Given the description of an element on the screen output the (x, y) to click on. 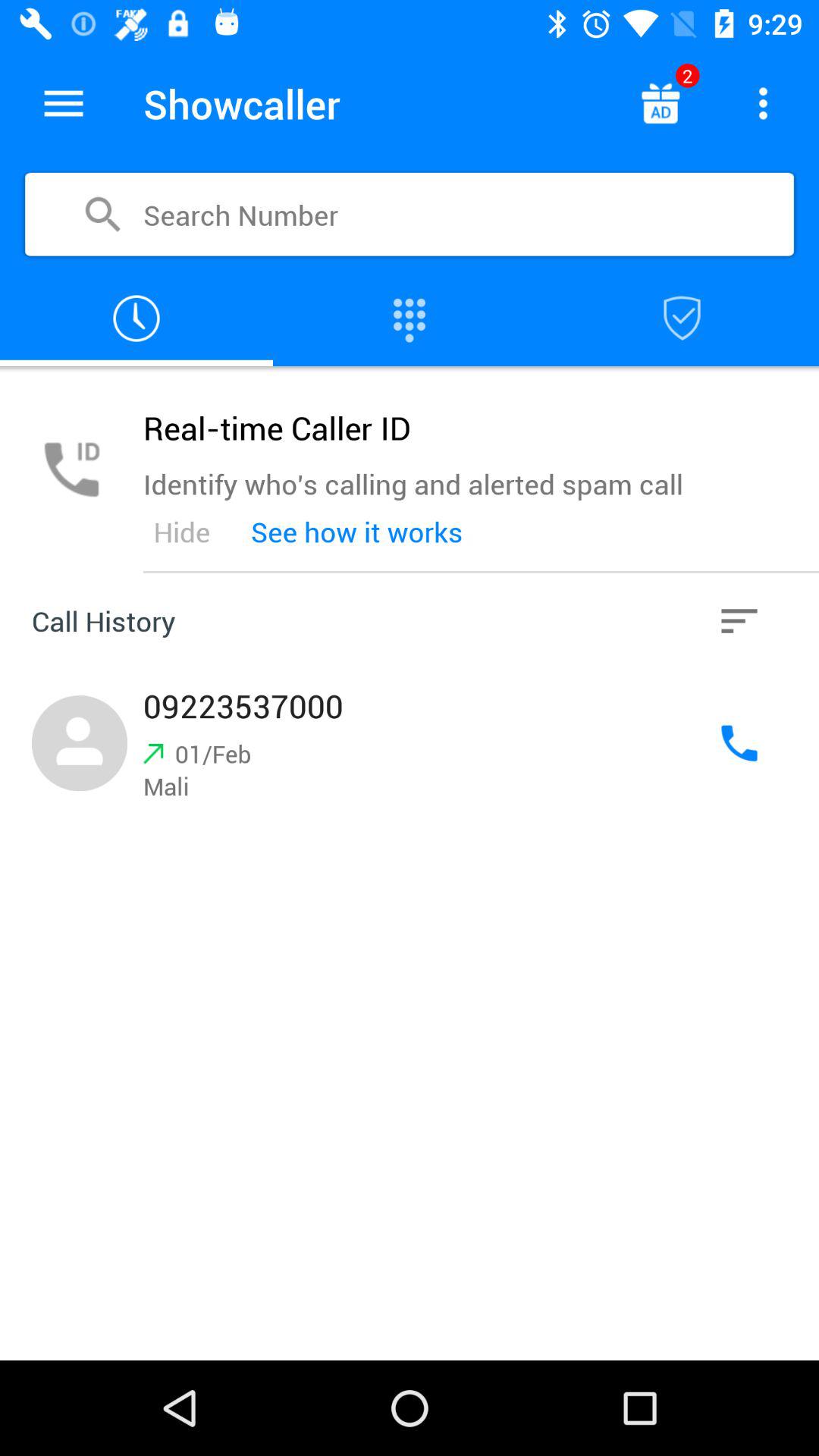
open numerical keypad (409, 318)
